Given the description of an element on the screen output the (x, y) to click on. 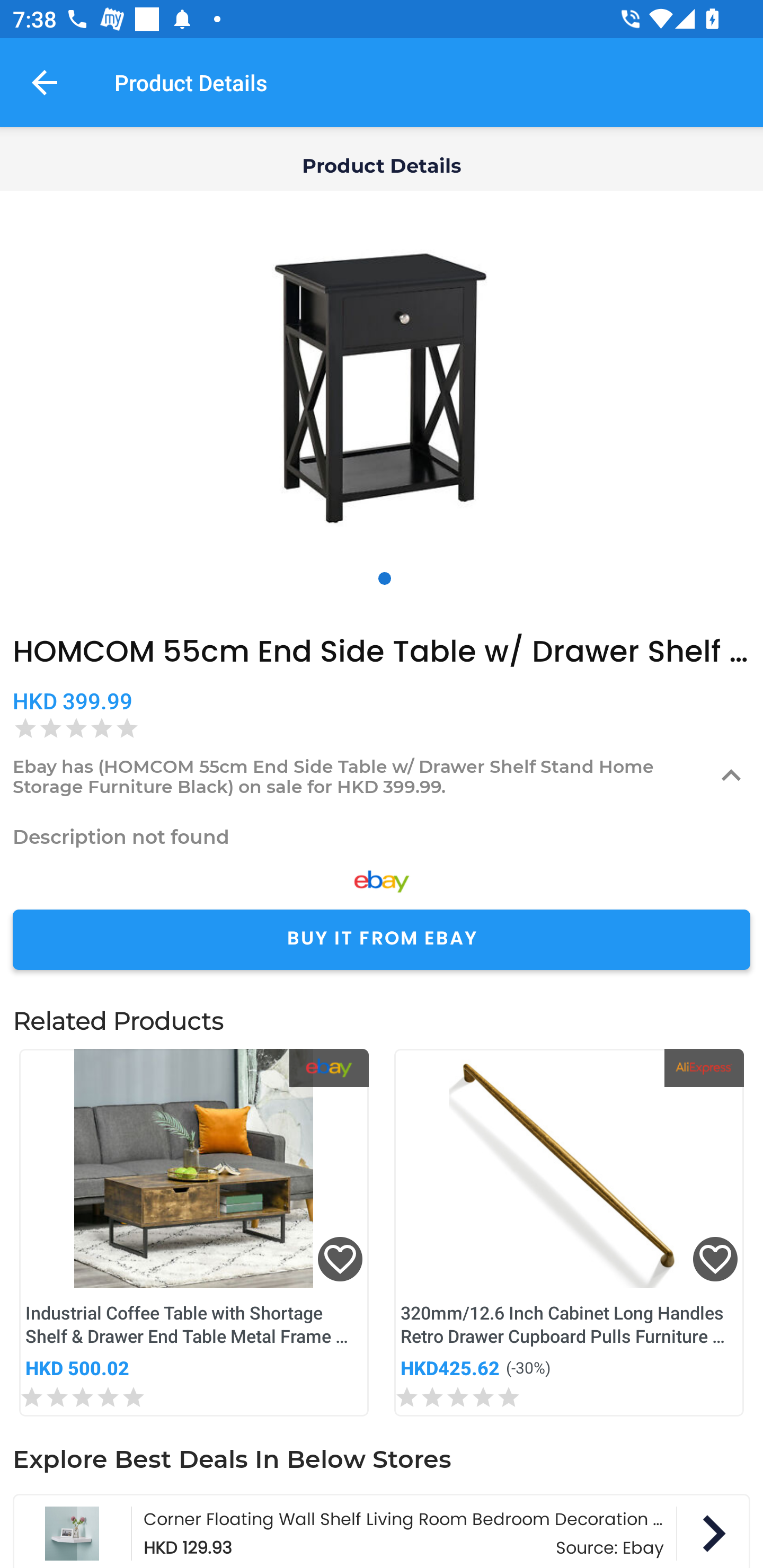
Navigate up (44, 82)
Description not found (381, 836)
BUY IT FROM EBAY (381, 940)
